Given the description of an element on the screen output the (x, y) to click on. 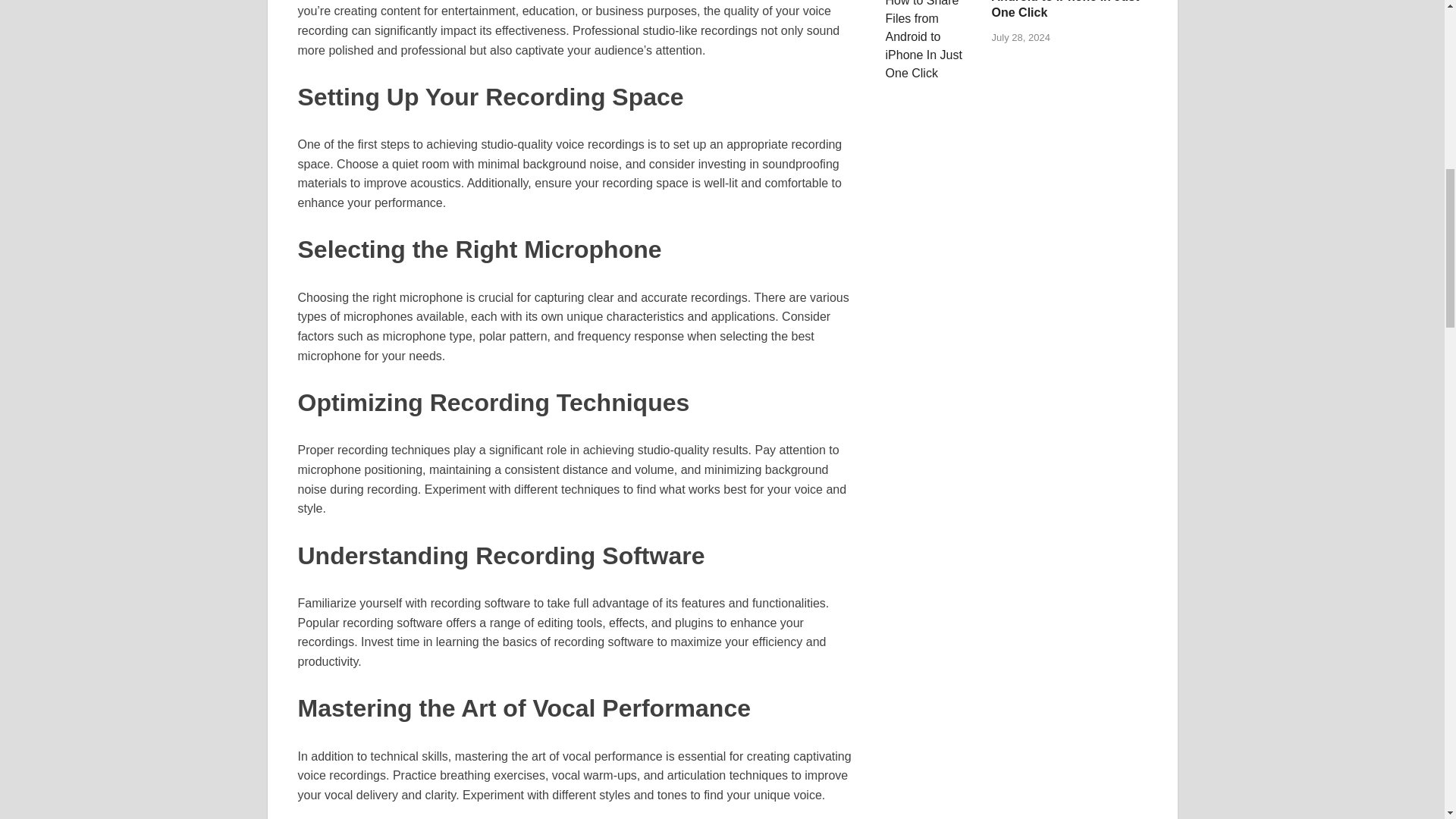
How to Share Files from Android to iPhone In Just One Click (1065, 9)
